Given the description of an element on the screen output the (x, y) to click on. 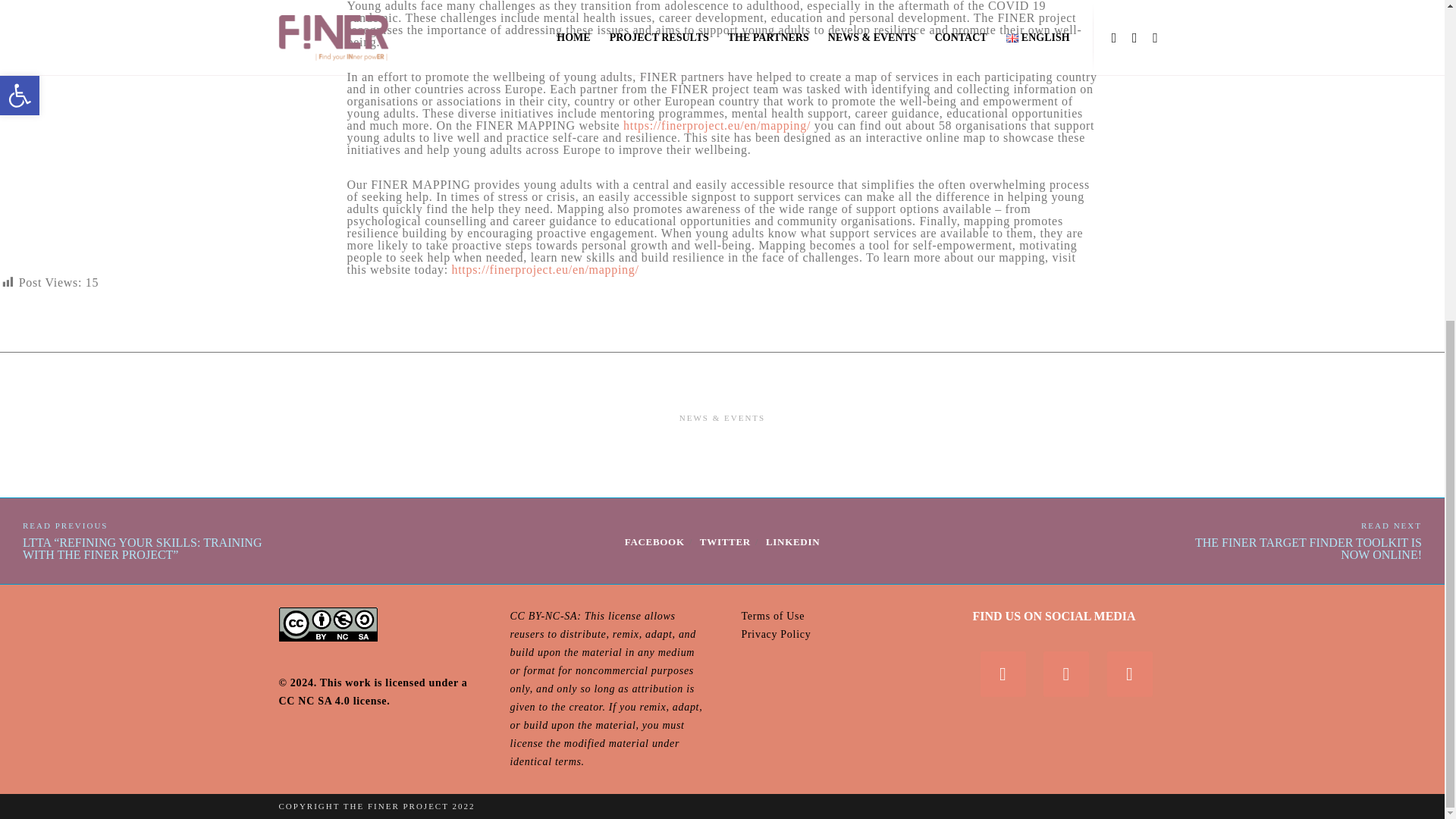
Empowering young adults with the FINER MAPPING! (654, 541)
Empowering young adults with the FINER MAPPING! (792, 541)
Empowering young adults with the FINER MAPPING! (725, 541)
